Given the description of an element on the screen output the (x, y) to click on. 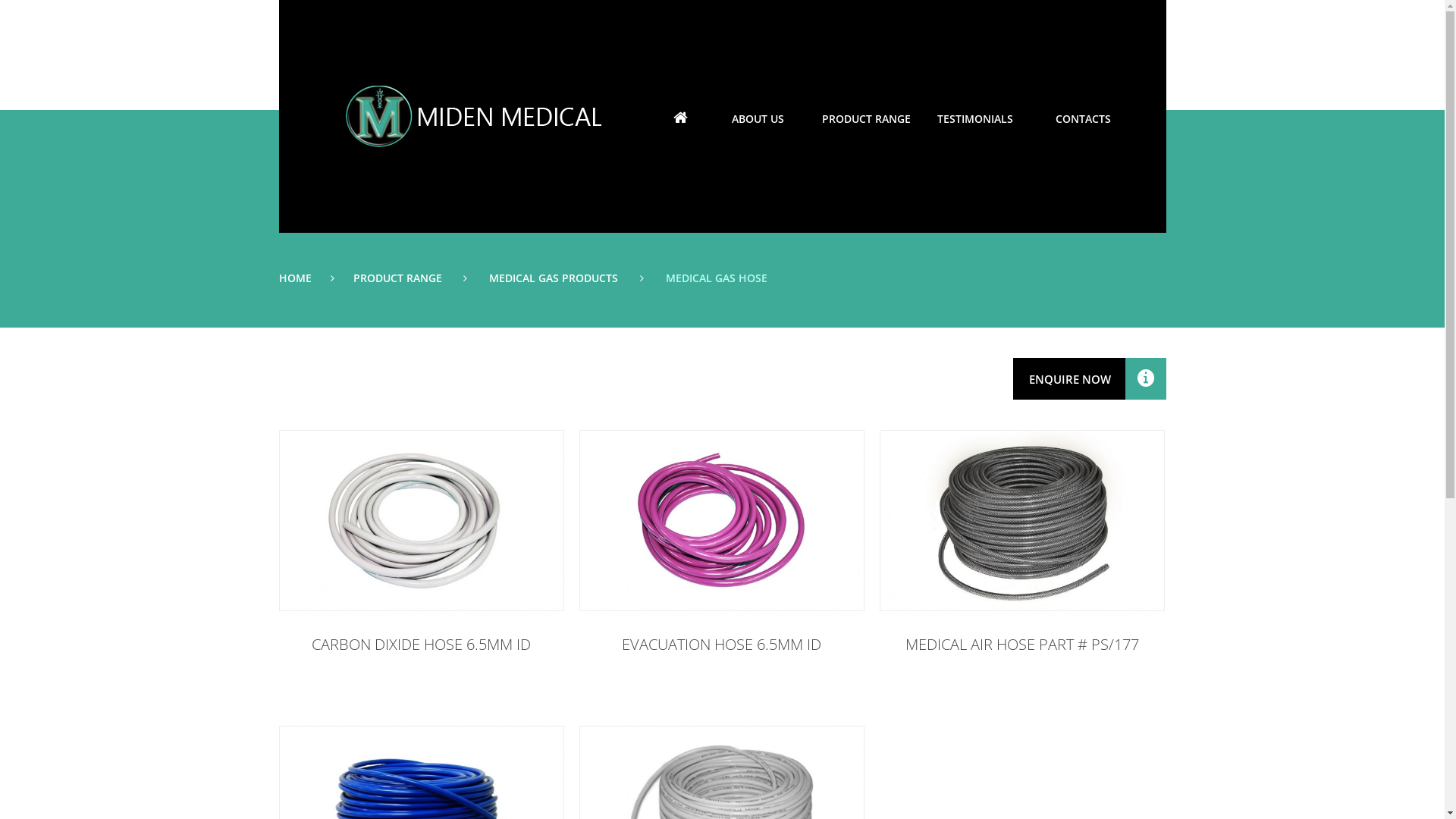
MEDICAL AIR HOSE PART # PS/177 Element type: text (1022, 643)
PRODUCT RANGE Element type: text (866, 118)
Medical Air Hose Part # PS/177 Element type: hover (1021, 520)
HOME Element type: text (680, 118)
Carbon Dixide Hose 6.5mm ID Element type: hover (420, 520)
EVACUATION HOSE 6.5MM ID Element type: text (721, 643)
TESTIMONIALS Element type: text (974, 118)
PRODUCT RANGE Element type: text (397, 277)
CARBON DIXIDE HOSE 6.5MM ID Element type: text (420, 643)
ABOUT US Element type: text (757, 118)
Evacuation Hose 6.5mm ID Element type: hover (720, 520)
HOME Element type: text (295, 277)
ENQUIRE NOW Element type: text (1089, 378)
CONTACTS Element type: text (1082, 118)
MEDICAL GAS PRODUCTS Element type: text (553, 277)
